Given the description of an element on the screen output the (x, y) to click on. 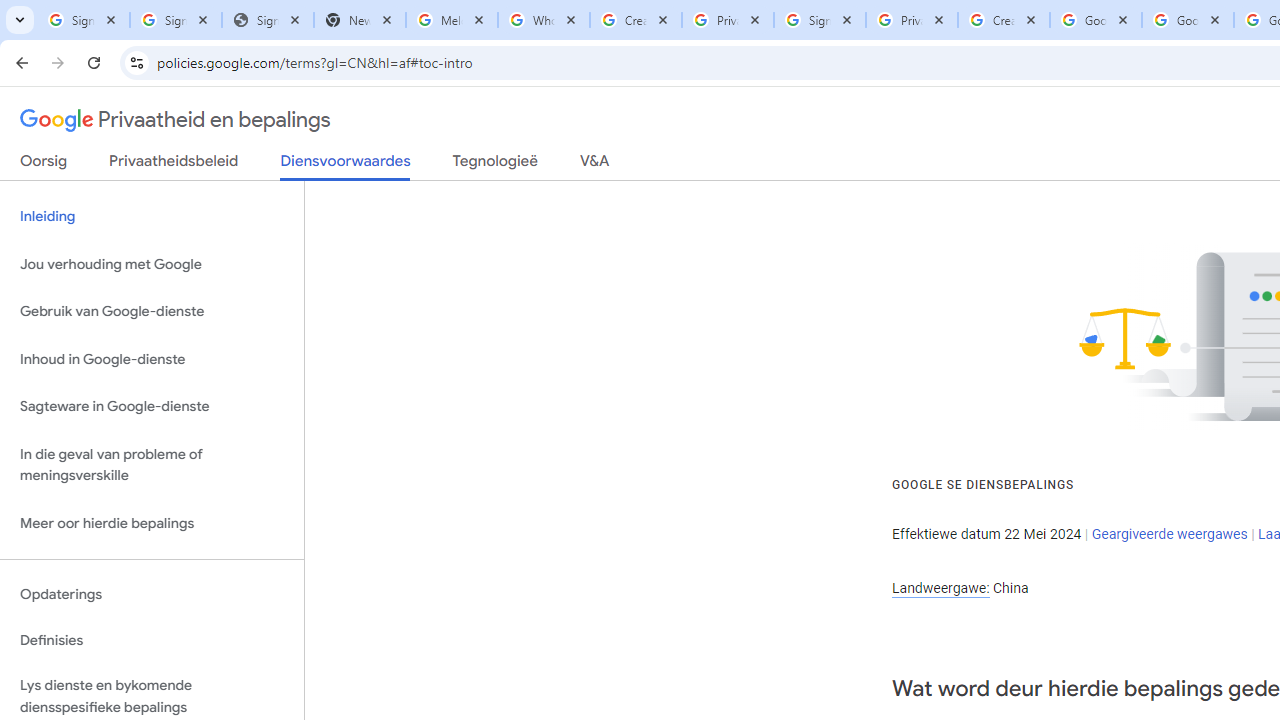
Sagteware in Google-dienste (152, 407)
V&A (594, 165)
Inhoud in Google-dienste (152, 358)
Privaatheid en bepalings (175, 120)
Diensvoorwaardes (345, 166)
Landweergawe: (940, 588)
Who is my administrator? - Google Account Help (543, 20)
Gebruik van Google-dienste (152, 312)
Oorsig (43, 165)
Sign in - Google Accounts (83, 20)
